Given the description of an element on the screen output the (x, y) to click on. 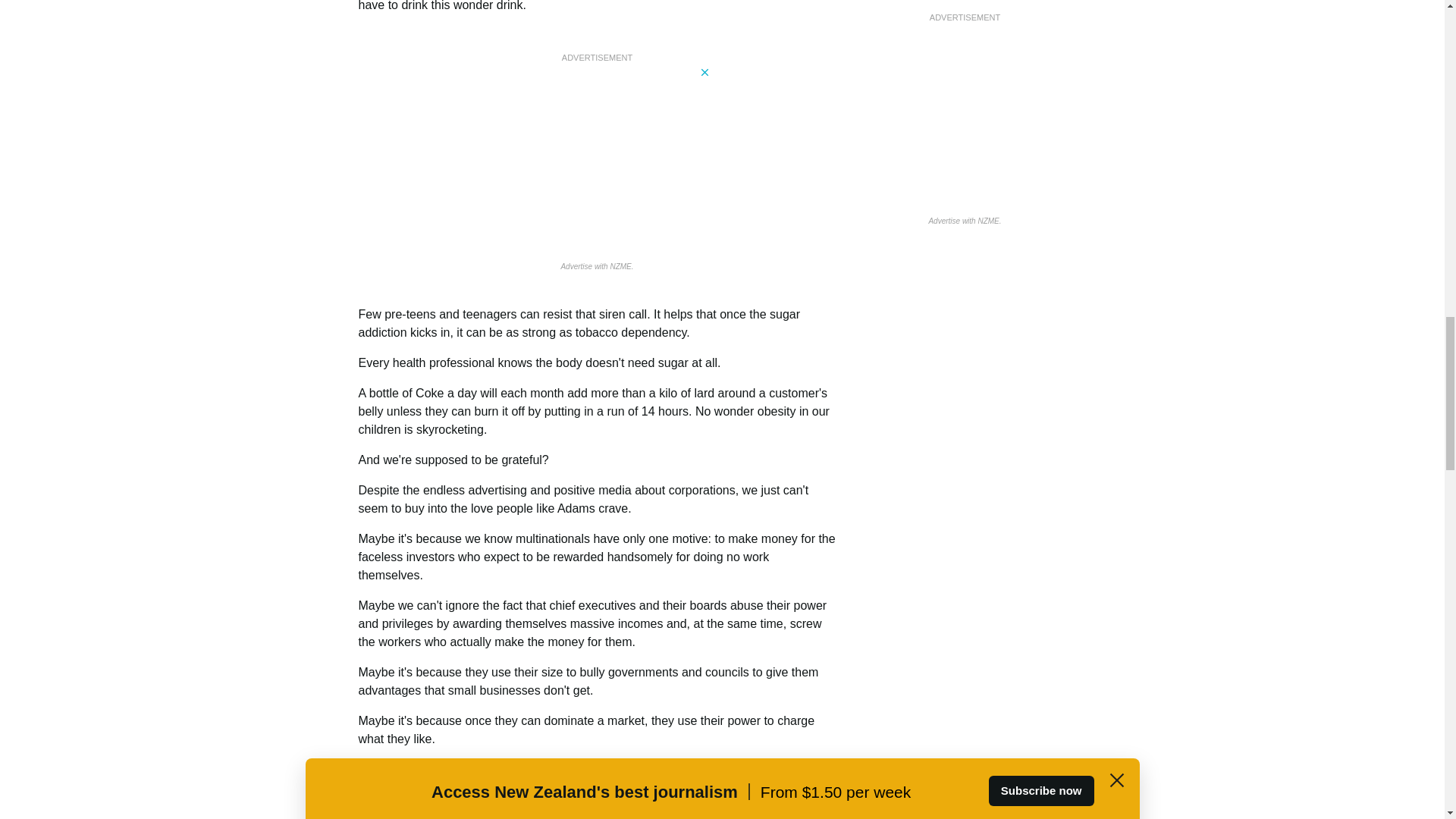
3rd party ad content (964, 46)
3rd party ad content (597, 160)
